Given the description of an element on the screen output the (x, y) to click on. 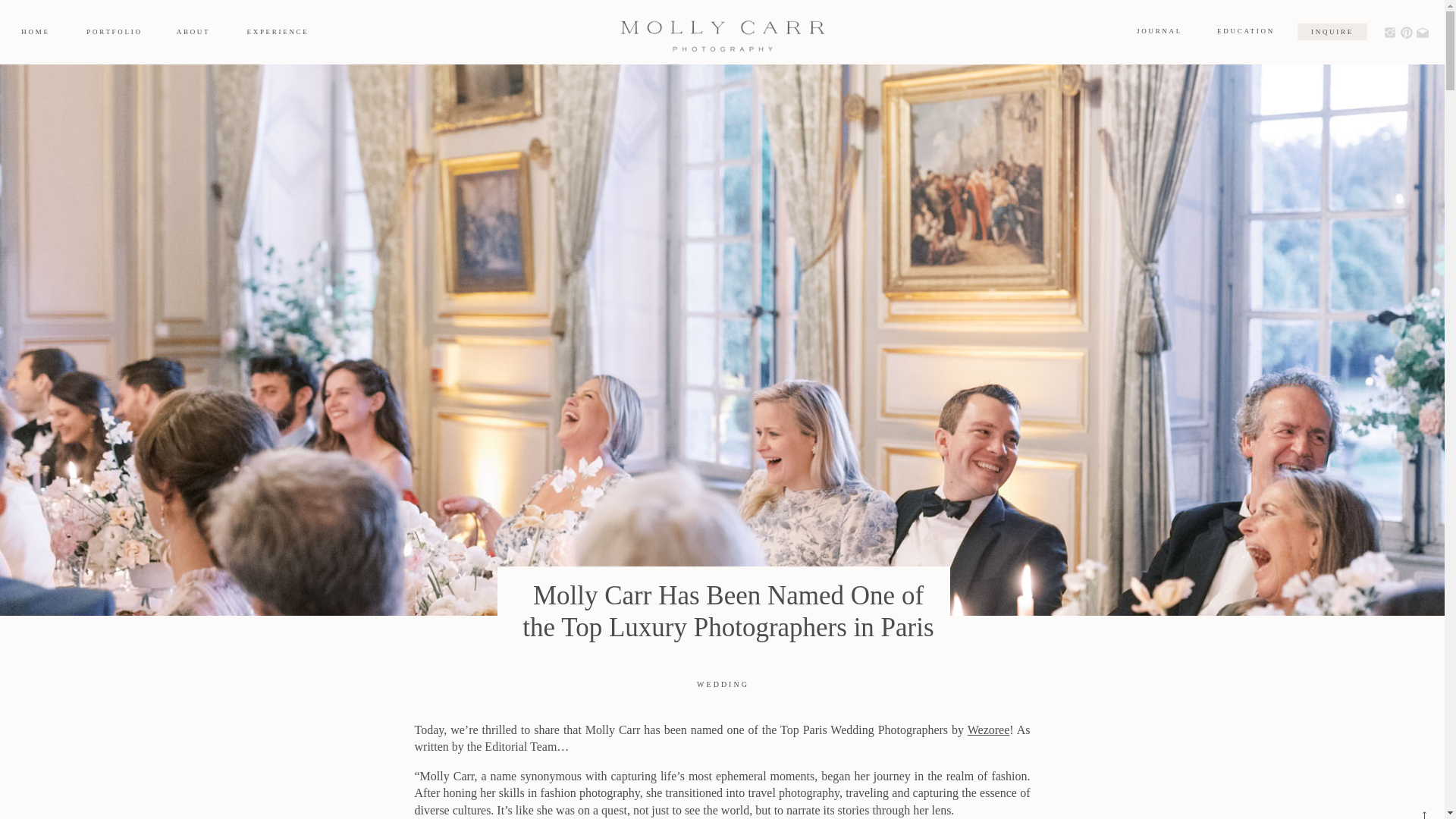
INQUIRE (1332, 32)
HOME (35, 31)
JOURNAL (1159, 31)
PORTFOLIO (114, 31)
EXPERIENCE (277, 31)
EDUCATION (1245, 31)
Wezoree (989, 729)
ABOUT (192, 31)
WEDDING (723, 684)
